Given the description of an element on the screen output the (x, y) to click on. 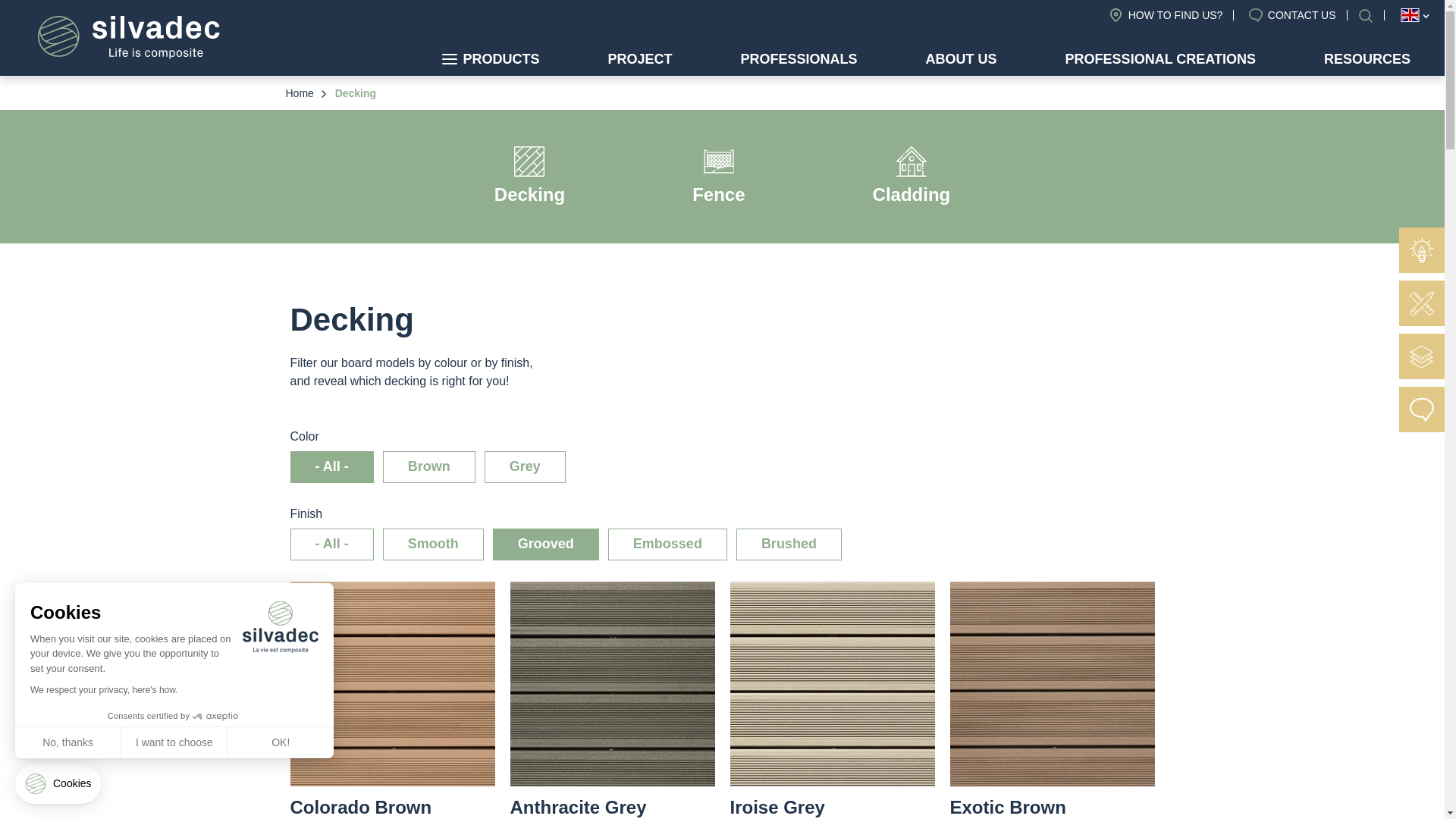
Fermer le widget sans consentement (57, 783)
PRODUCTS (490, 59)
0 (106, 766)
HOW TO FIND US? (1165, 15)
English (1409, 15)
ENGLISH (1409, 15)
Search (1367, 15)
CONTACT US (1292, 15)
